Given the description of an element on the screen output the (x, y) to click on. 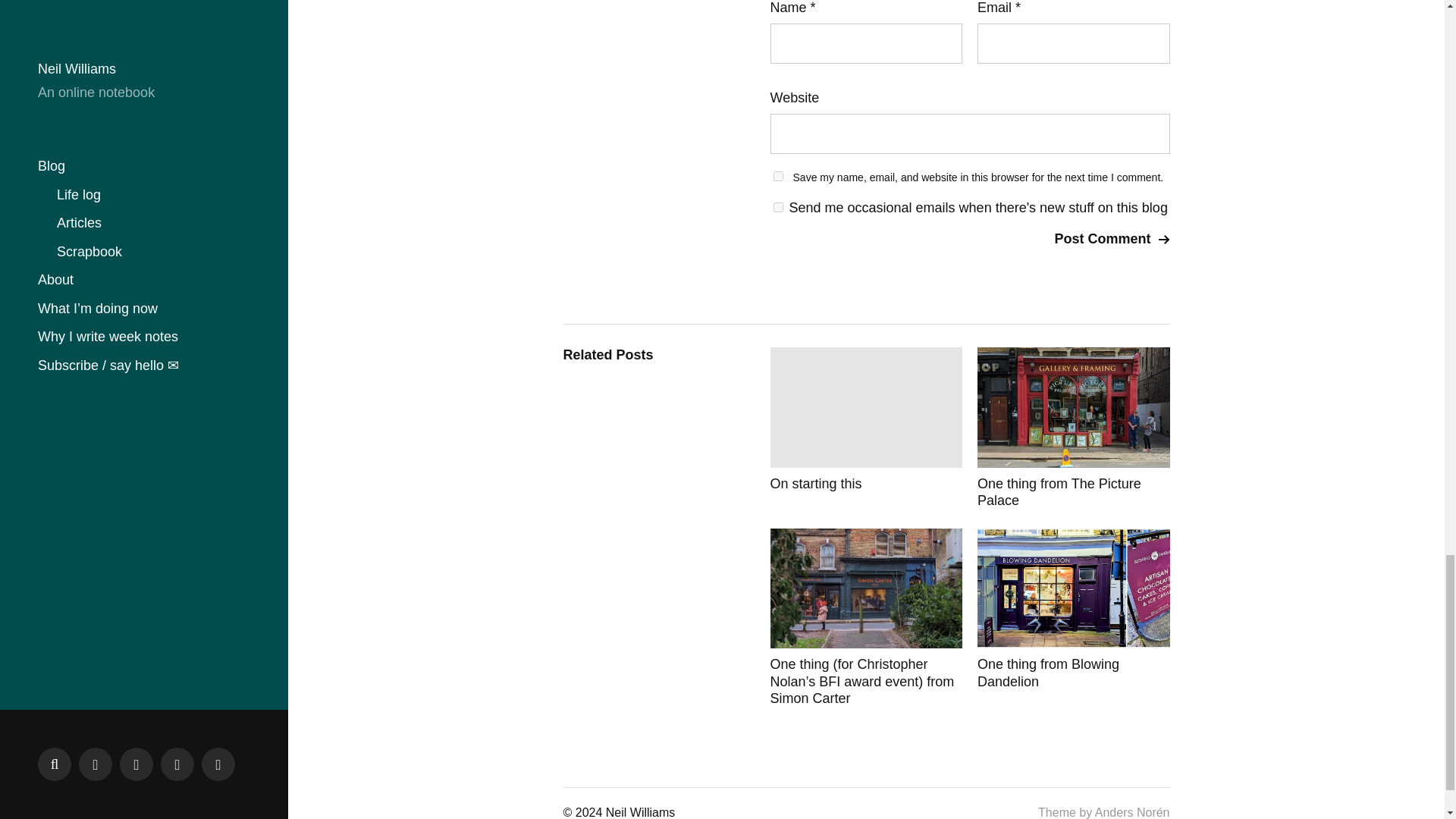
Post Comment (1111, 239)
One thing from The Picture Palace (1073, 427)
Post Comment (1111, 239)
On starting this (866, 427)
1 (778, 207)
yes (778, 175)
